Given the description of an element on the screen output the (x, y) to click on. 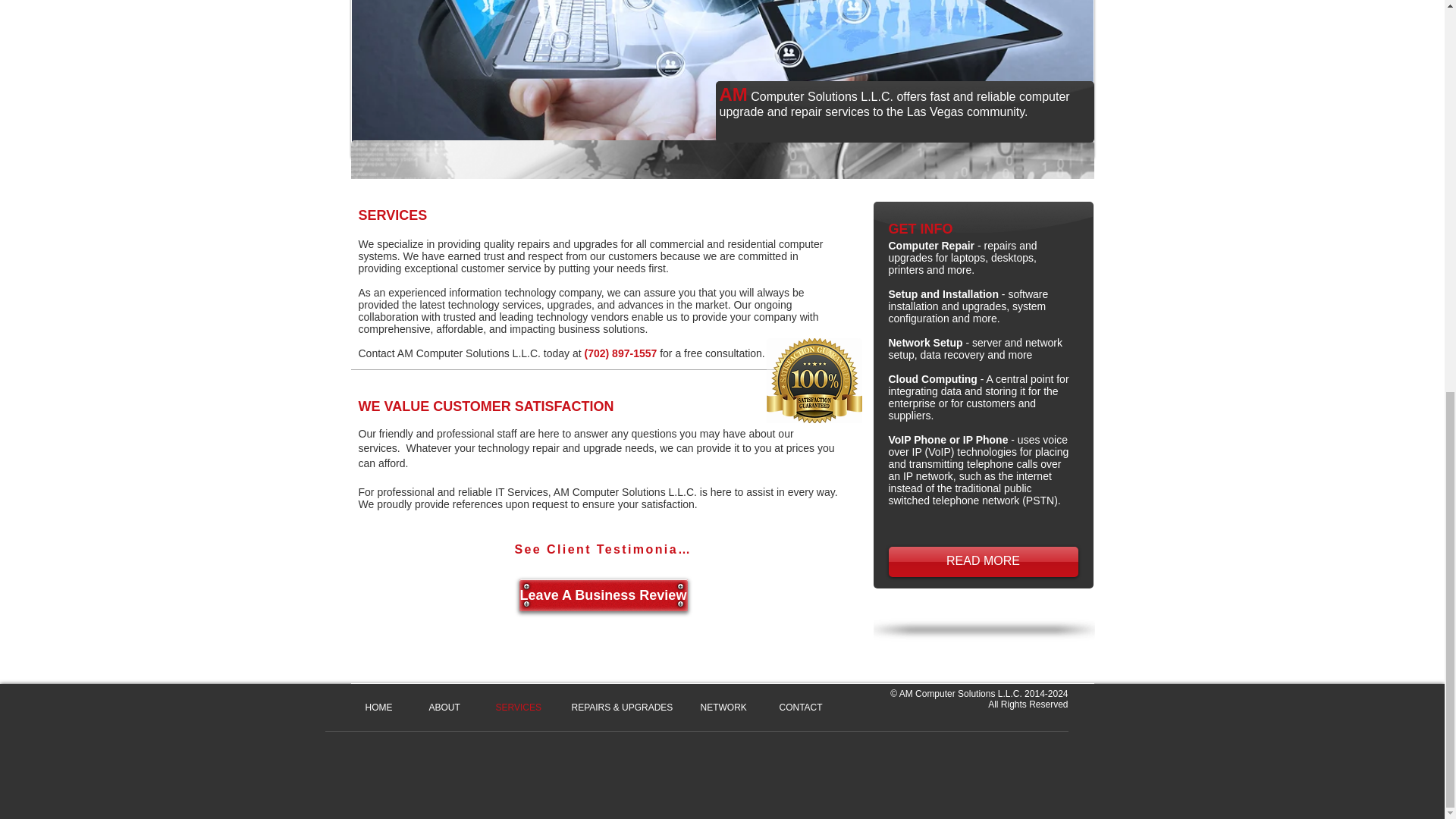
CONTACT (805, 706)
SERVICES (521, 706)
See Client Testimonials (601, 549)
Mobile-Technology.jpg (721, 79)
HOME (384, 706)
NETWORK (727, 706)
ABOUT (449, 706)
Leave A Business Review (602, 594)
READ MORE (983, 562)
